Given the description of an element on the screen output the (x, y) to click on. 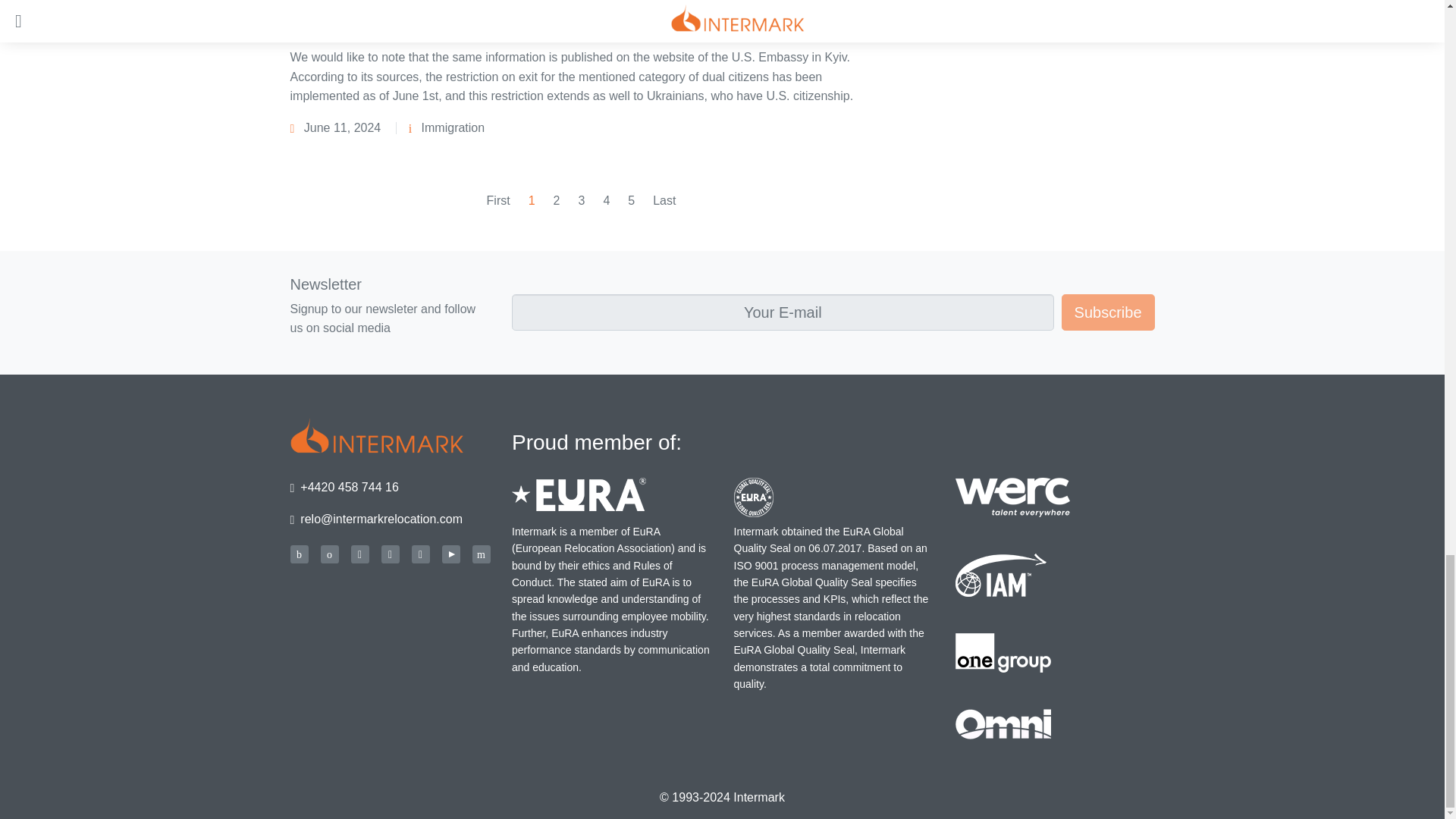
Instagram (419, 554)
Linked In (389, 554)
YouTube (450, 554)
Castbox.fm (298, 554)
Apple podcast (328, 554)
Facebook (359, 554)
Telegram (480, 554)
